Given the description of an element on the screen output the (x, y) to click on. 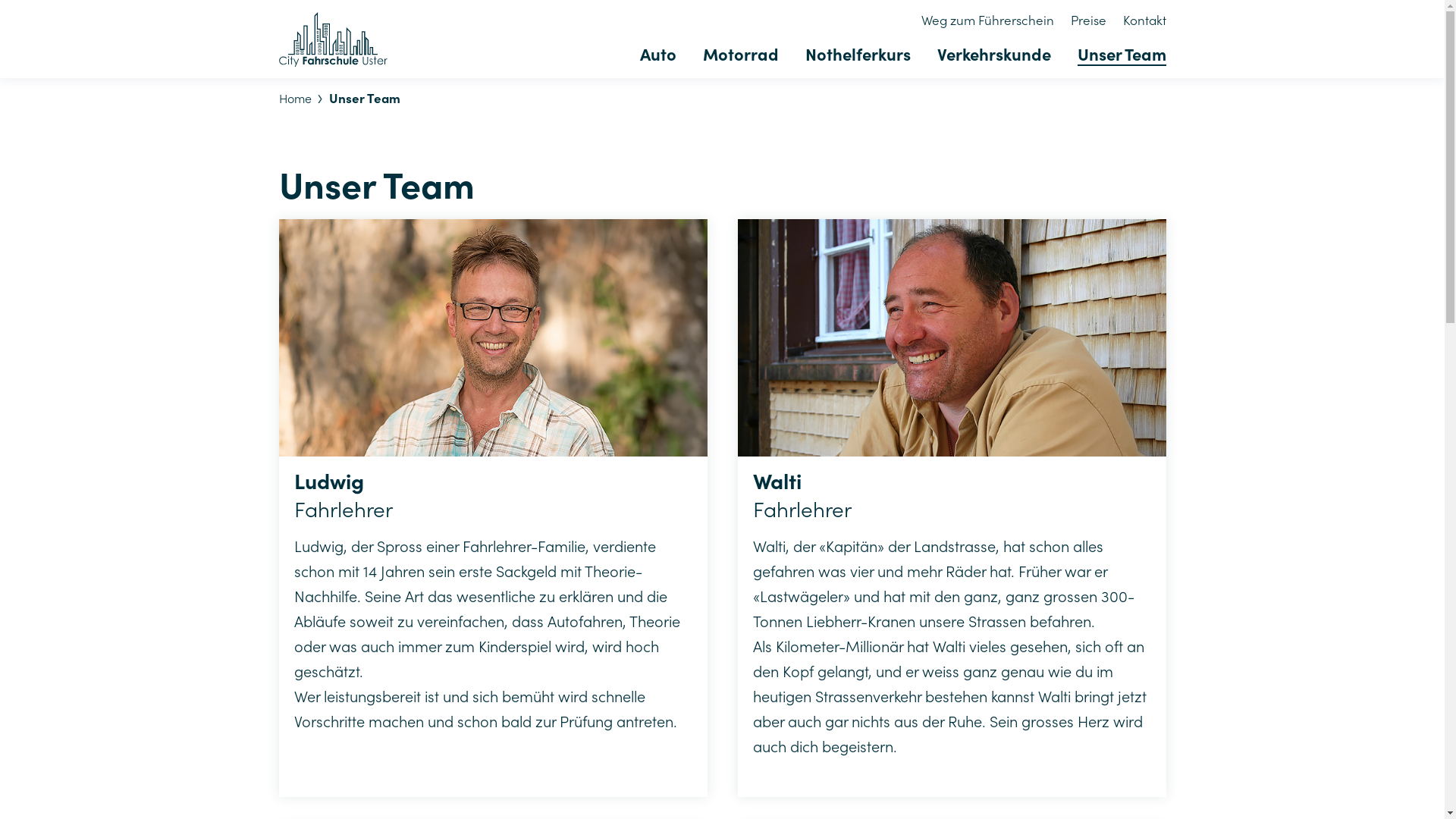
Preise Element type: text (1088, 20)
Auto Element type: text (658, 55)
Motorrad Element type: text (740, 55)
Kontakt Element type: text (1143, 20)
Home Element type: text (295, 97)
Nothelferkurs Element type: text (857, 55)
Verkehrskunde Element type: text (994, 55)
Unser Team Element type: text (1120, 55)
